Given the description of an element on the screen output the (x, y) to click on. 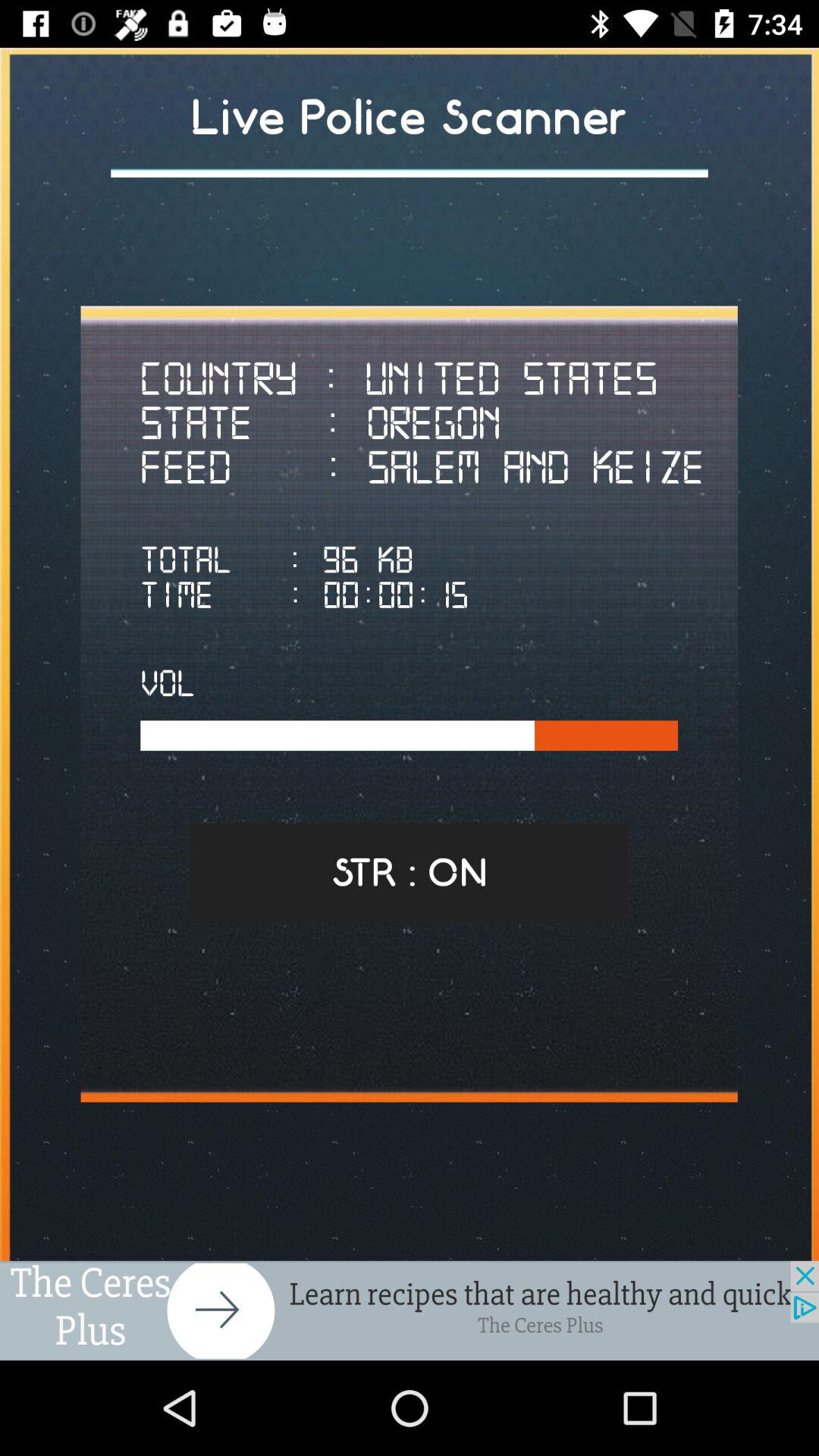
go to external advertisement (409, 1310)
